Given the description of an element on the screen output the (x, y) to click on. 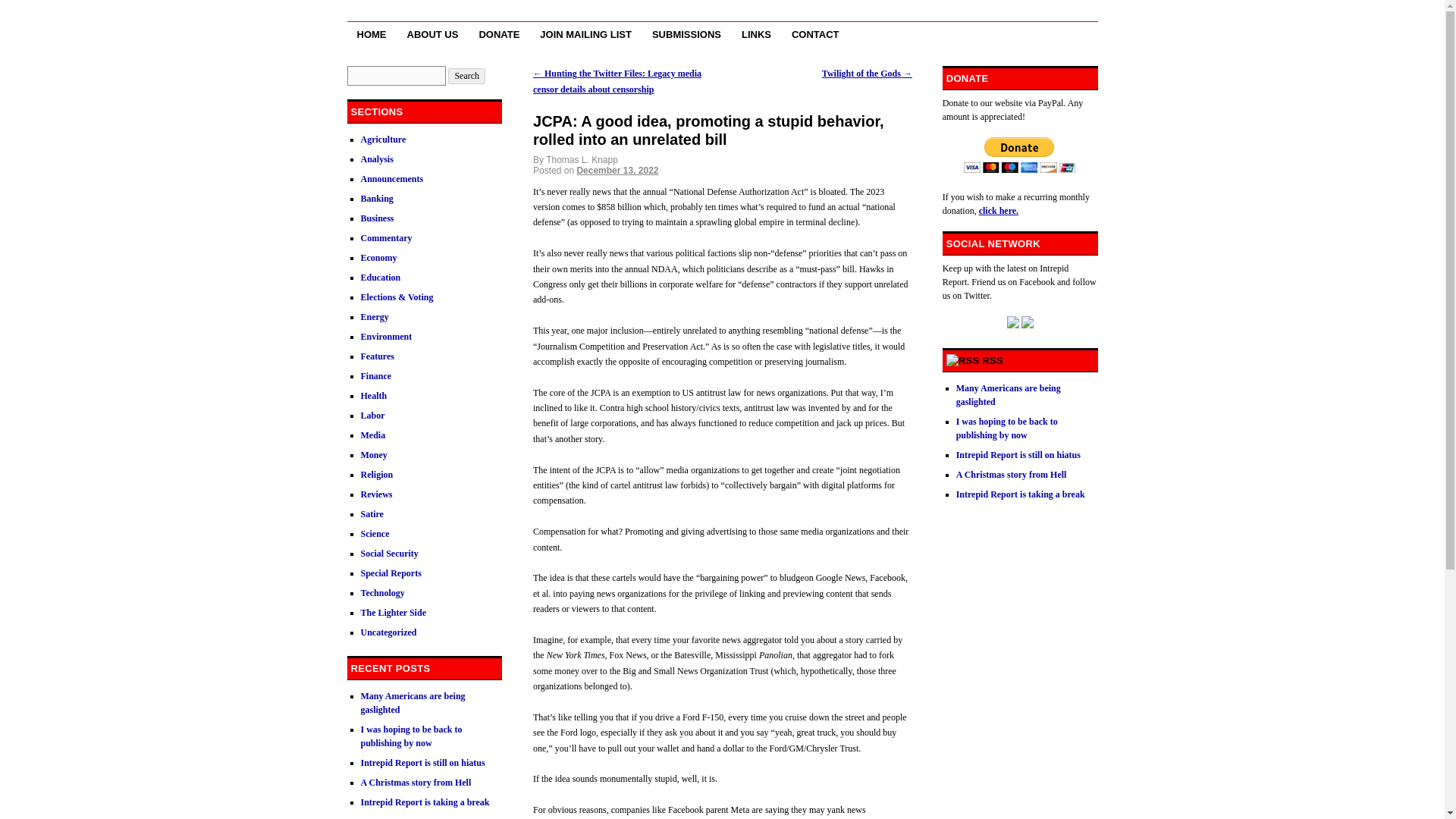
Money (374, 454)
About Us (432, 33)
Search (466, 75)
Announcements (392, 178)
Energy (374, 317)
DONATE (498, 33)
December 13, 2022 (617, 170)
Commentary (386, 237)
Media (373, 434)
Analysis (377, 158)
Health (374, 395)
LINKS (756, 33)
Submissions (686, 33)
JOIN MAILING LIST (585, 33)
12:04 am (617, 170)
